Given the description of an element on the screen output the (x, y) to click on. 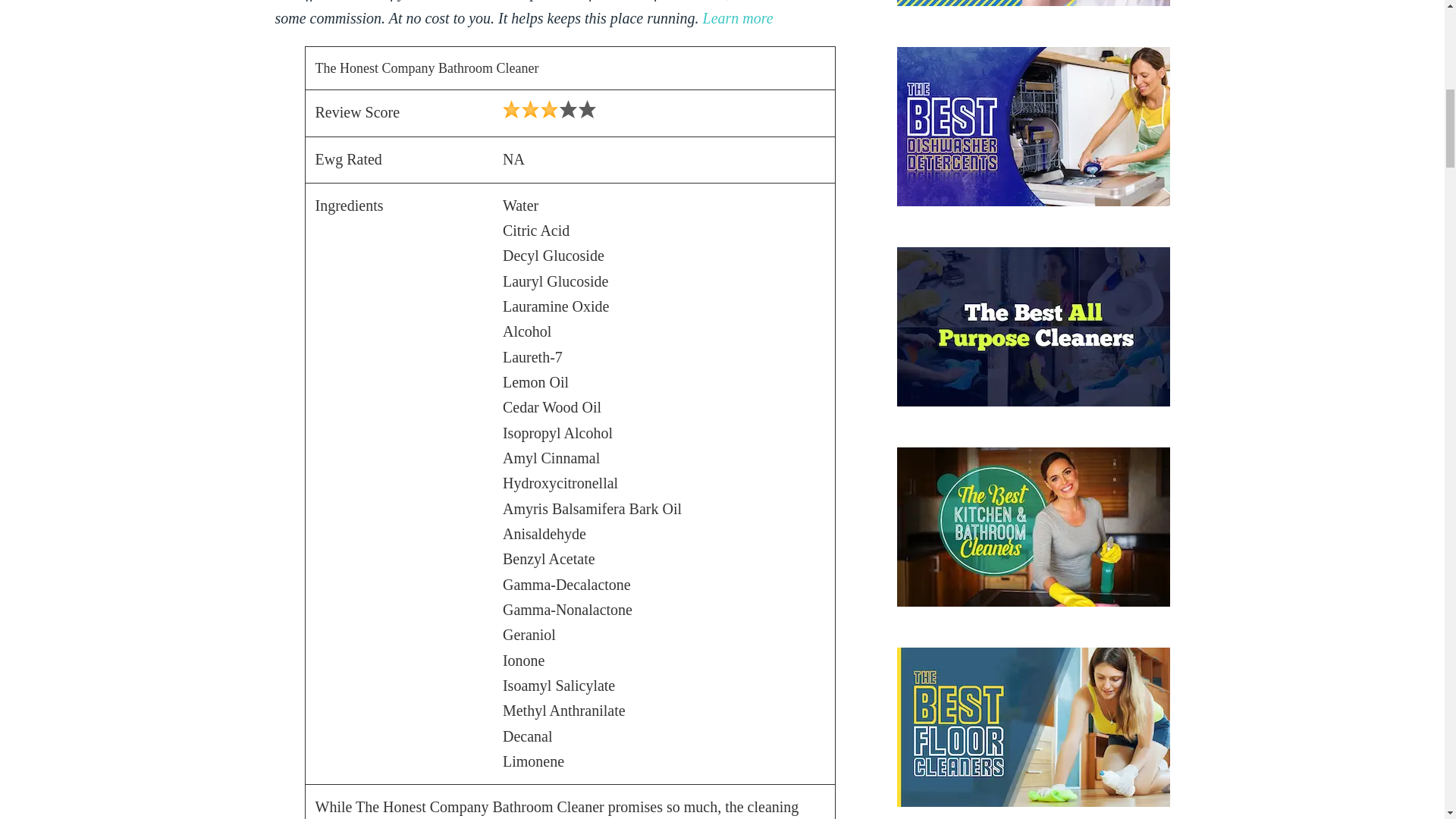
Learn more (738, 17)
